Given the description of an element on the screen output the (x, y) to click on. 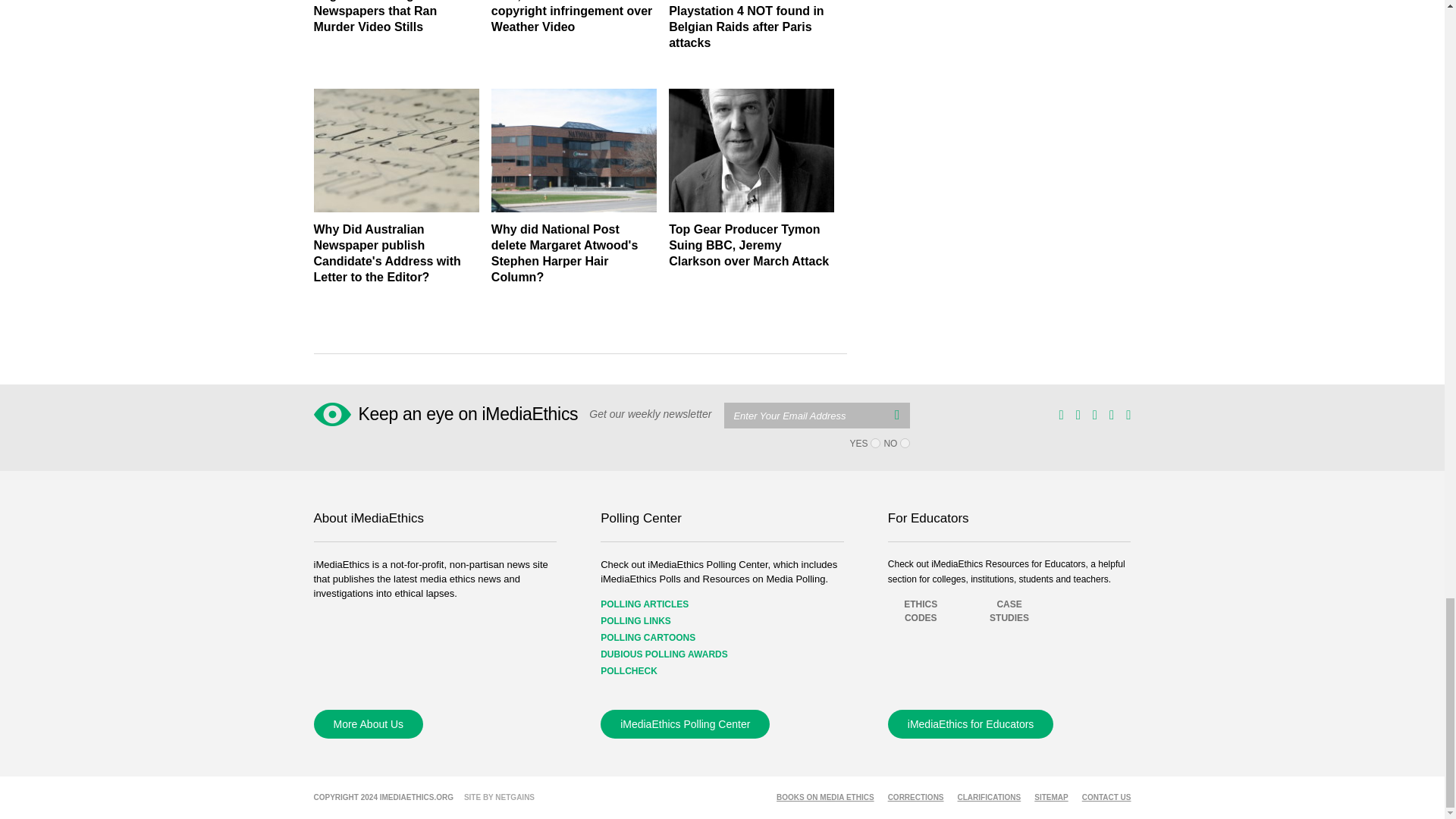
No (904, 442)
Submit (896, 414)
Yes (875, 442)
